Given the description of an element on the screen output the (x, y) to click on. 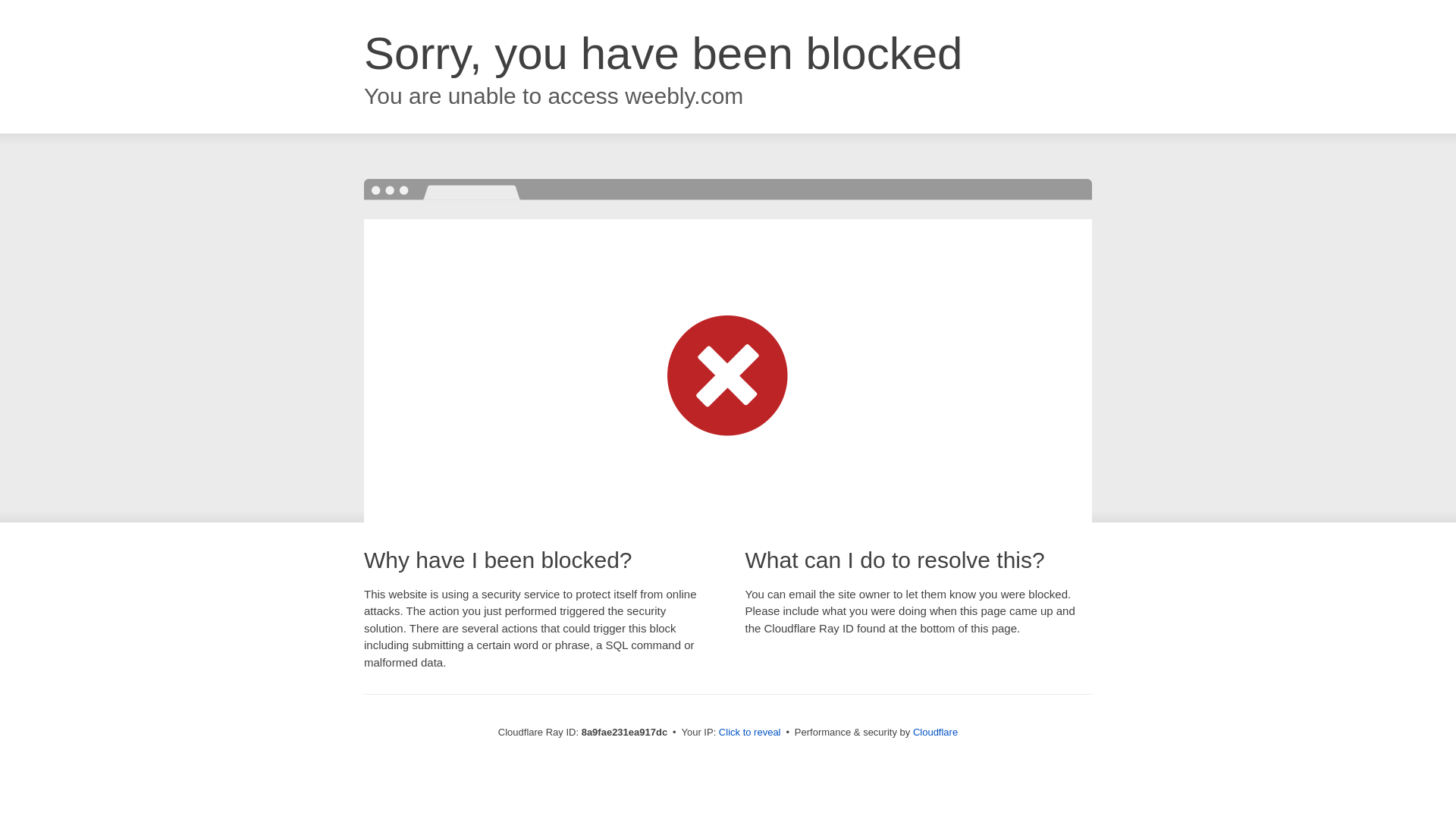
Click to reveal (749, 732)
Cloudflare (935, 731)
